Given the description of an element on the screen output the (x, y) to click on. 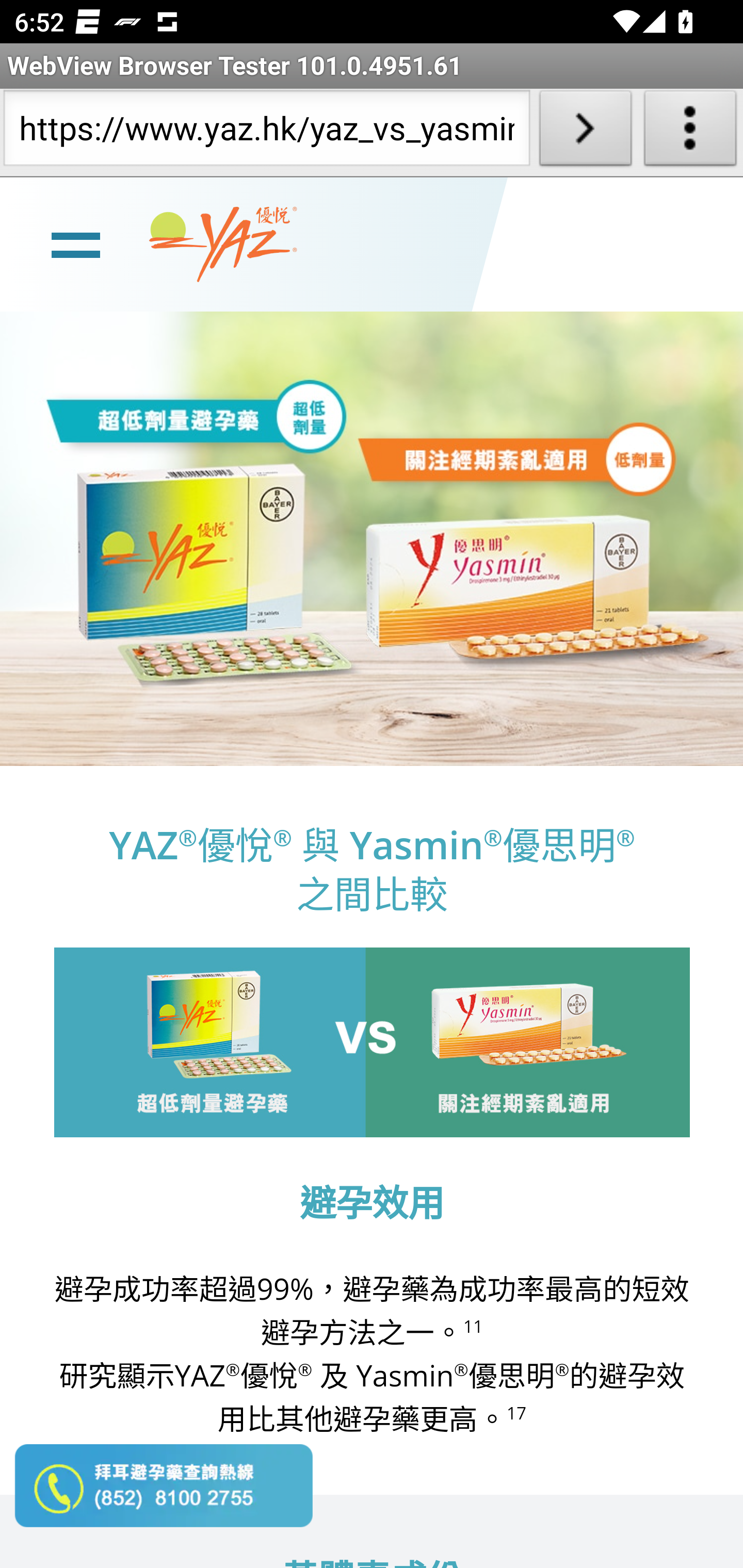
Load URL (585, 132)
About WebView (690, 132)
www.yaz (222, 244)
line Toggle burger menu (75, 242)
